Given the description of an element on the screen output the (x, y) to click on. 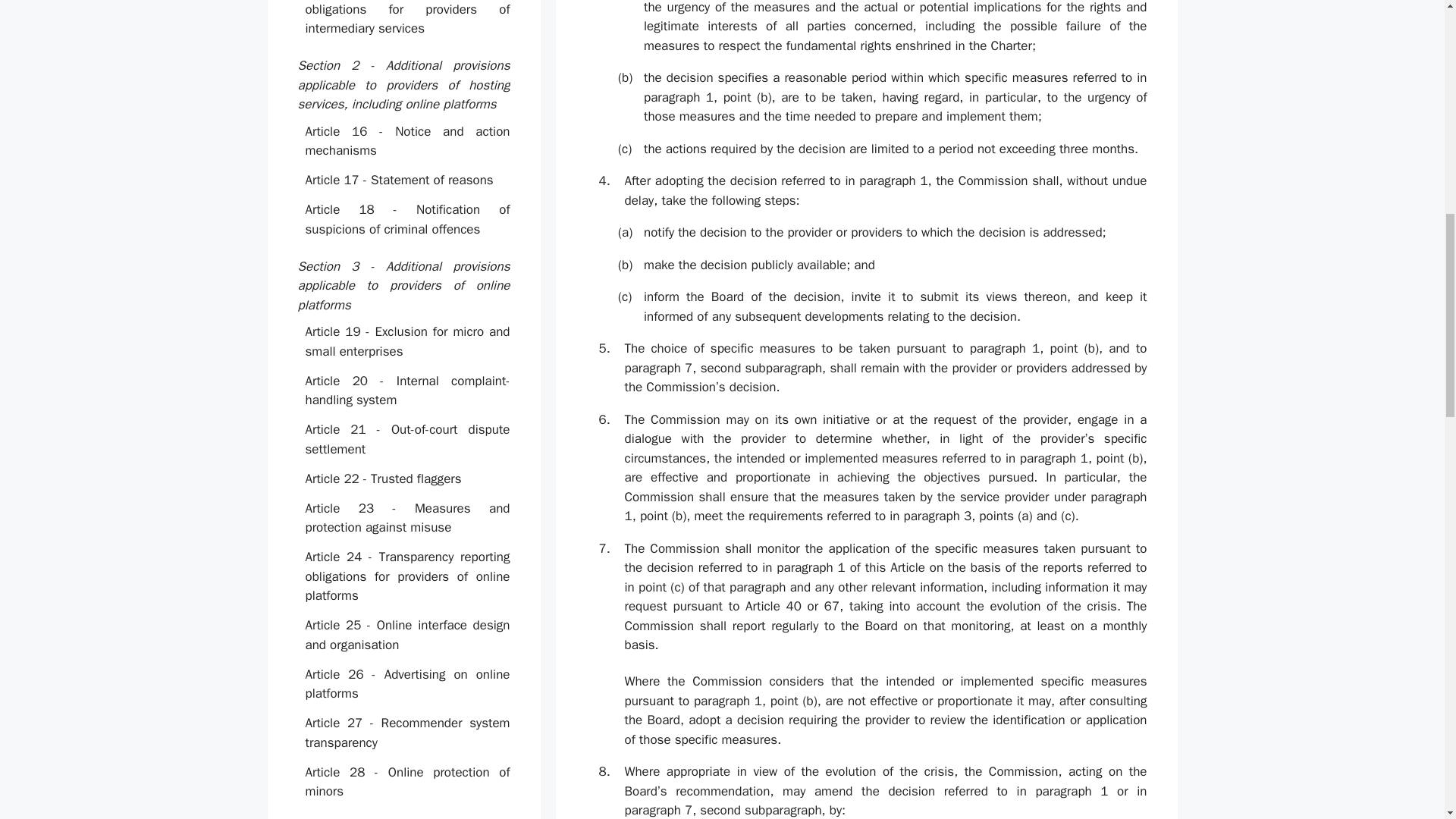
Scroll back to top (1406, 720)
